Given the description of an element on the screen output the (x, y) to click on. 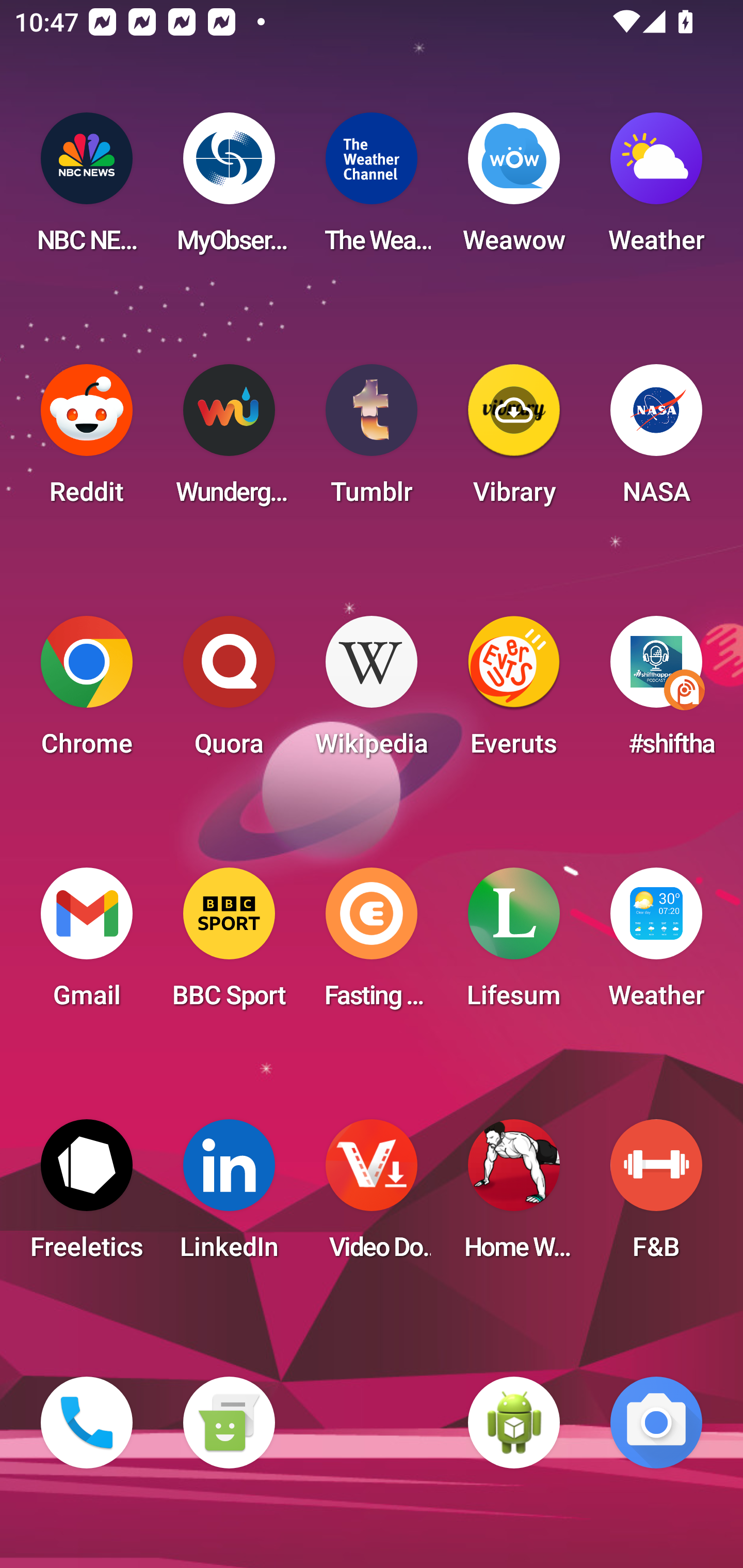
NBC NEWS (86, 188)
MyObservatory (228, 188)
The Weather Channel (371, 188)
Weawow (513, 188)
Weather (656, 188)
Reddit (86, 440)
Wunderground (228, 440)
Tumblr (371, 440)
Vibrary (513, 440)
NASA (656, 440)
Chrome (86, 692)
Quora (228, 692)
Wikipedia (371, 692)
Everuts (513, 692)
#shifthappens in the Digital Workplace Podcast (656, 692)
Gmail (86, 943)
BBC Sport (228, 943)
Fasting Coach (371, 943)
Lifesum (513, 943)
Weather (656, 943)
Freeletics (86, 1195)
LinkedIn (228, 1195)
Video Downloader & Ace Player (371, 1195)
Home Workout (513, 1195)
F&B (656, 1195)
Phone (86, 1422)
Messaging (228, 1422)
WebView Browser Tester (513, 1422)
Camera (656, 1422)
